Given the description of an element on the screen output the (x, y) to click on. 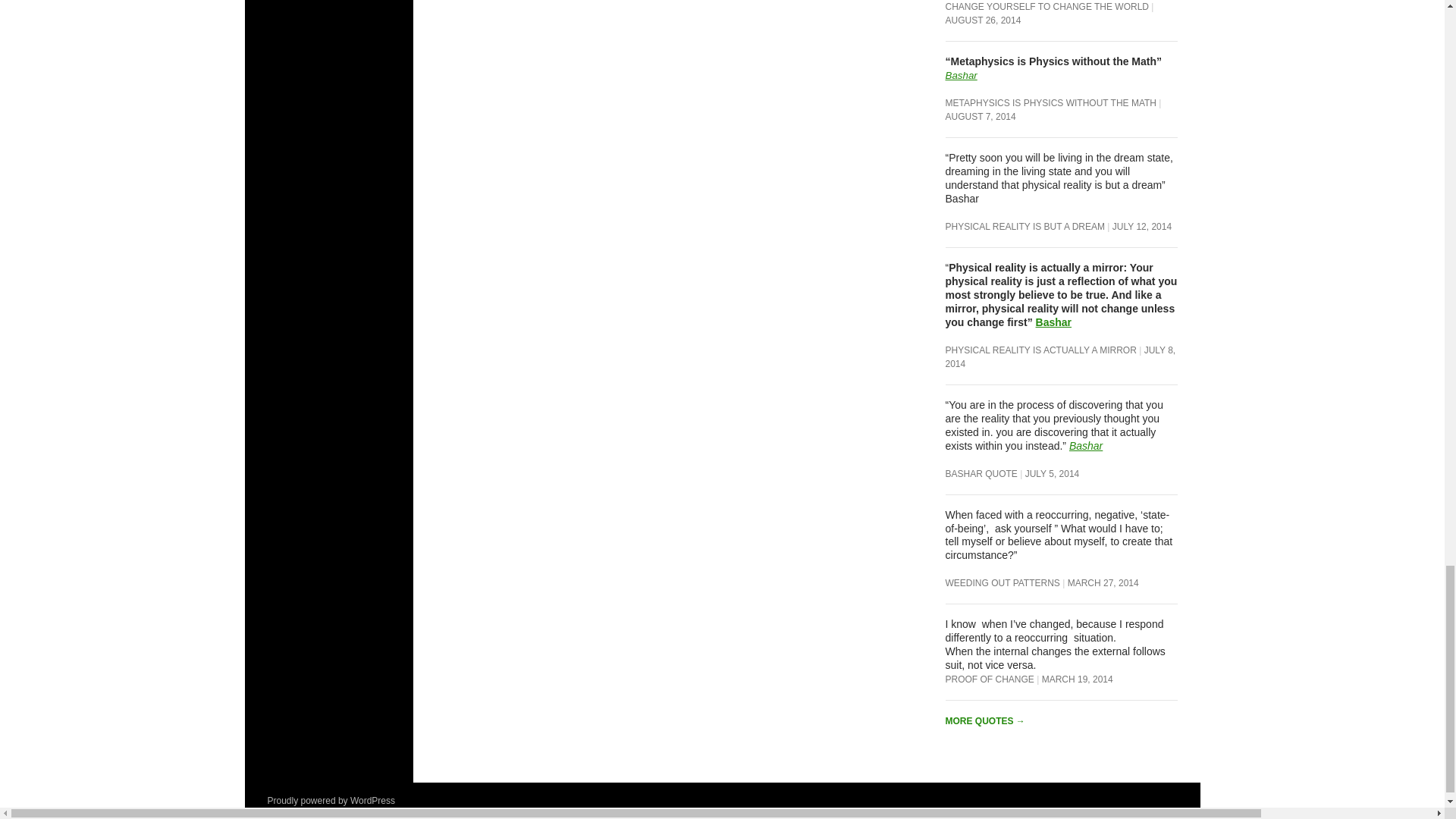
Bashar.org (1085, 445)
Bashar (960, 74)
